Given the description of an element on the screen output the (x, y) to click on. 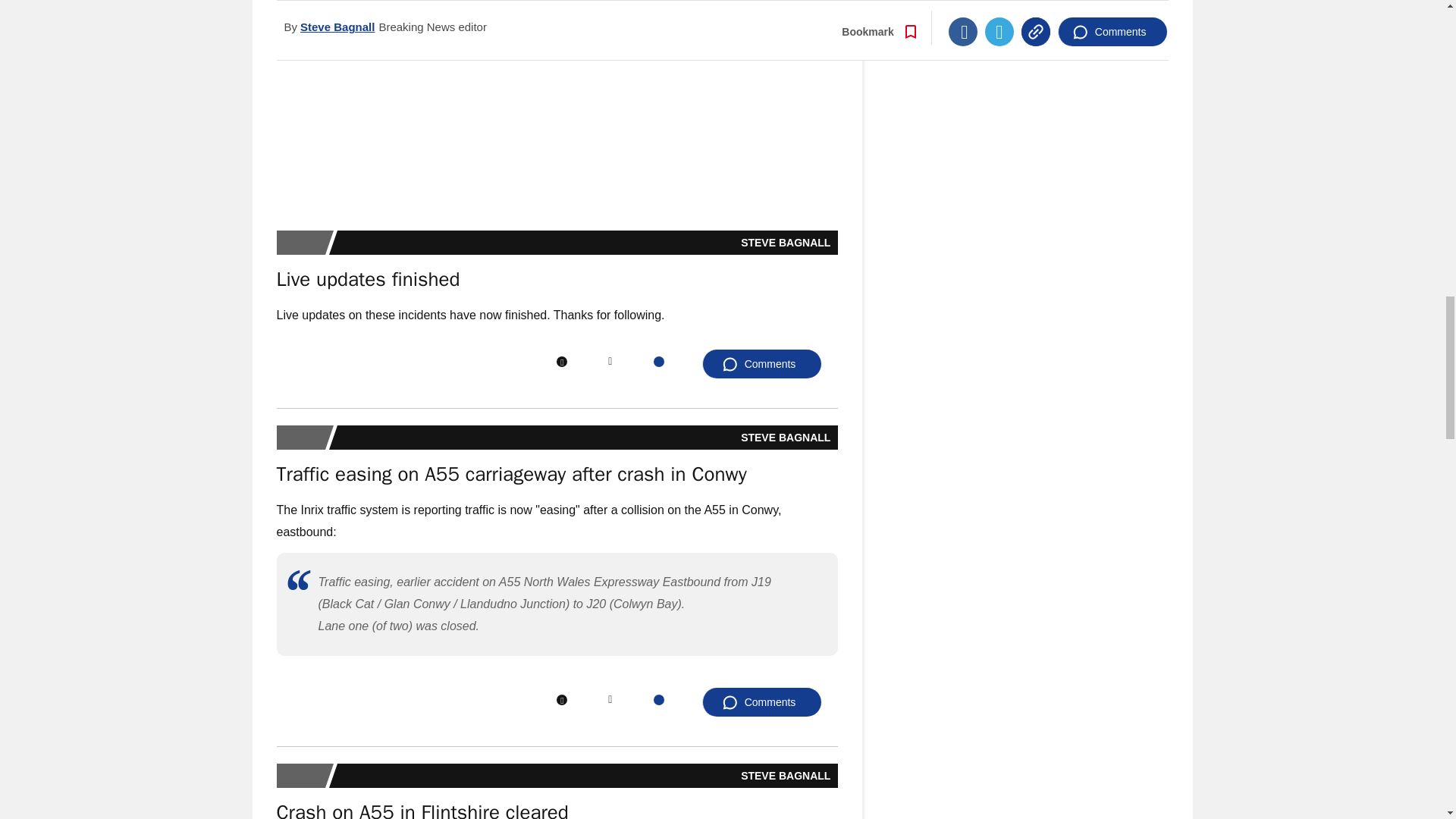
Facebook (561, 361)
Comments (761, 363)
Facebook (561, 699)
Comments (761, 701)
Twitter (610, 699)
Twitter (610, 361)
